Given the description of an element on the screen output the (x, y) to click on. 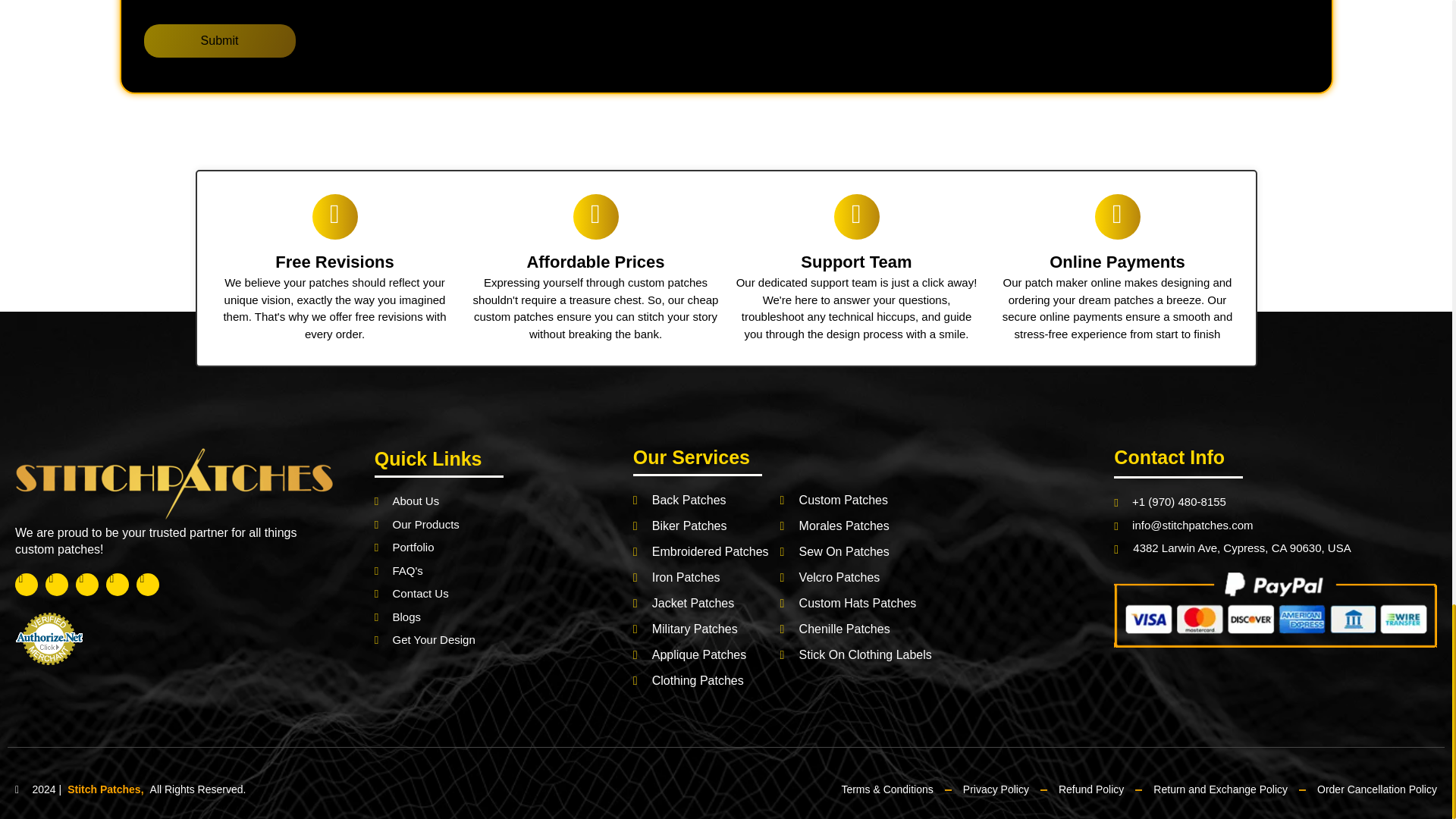
Submit (219, 40)
